Given the description of an element on the screen output the (x, y) to click on. 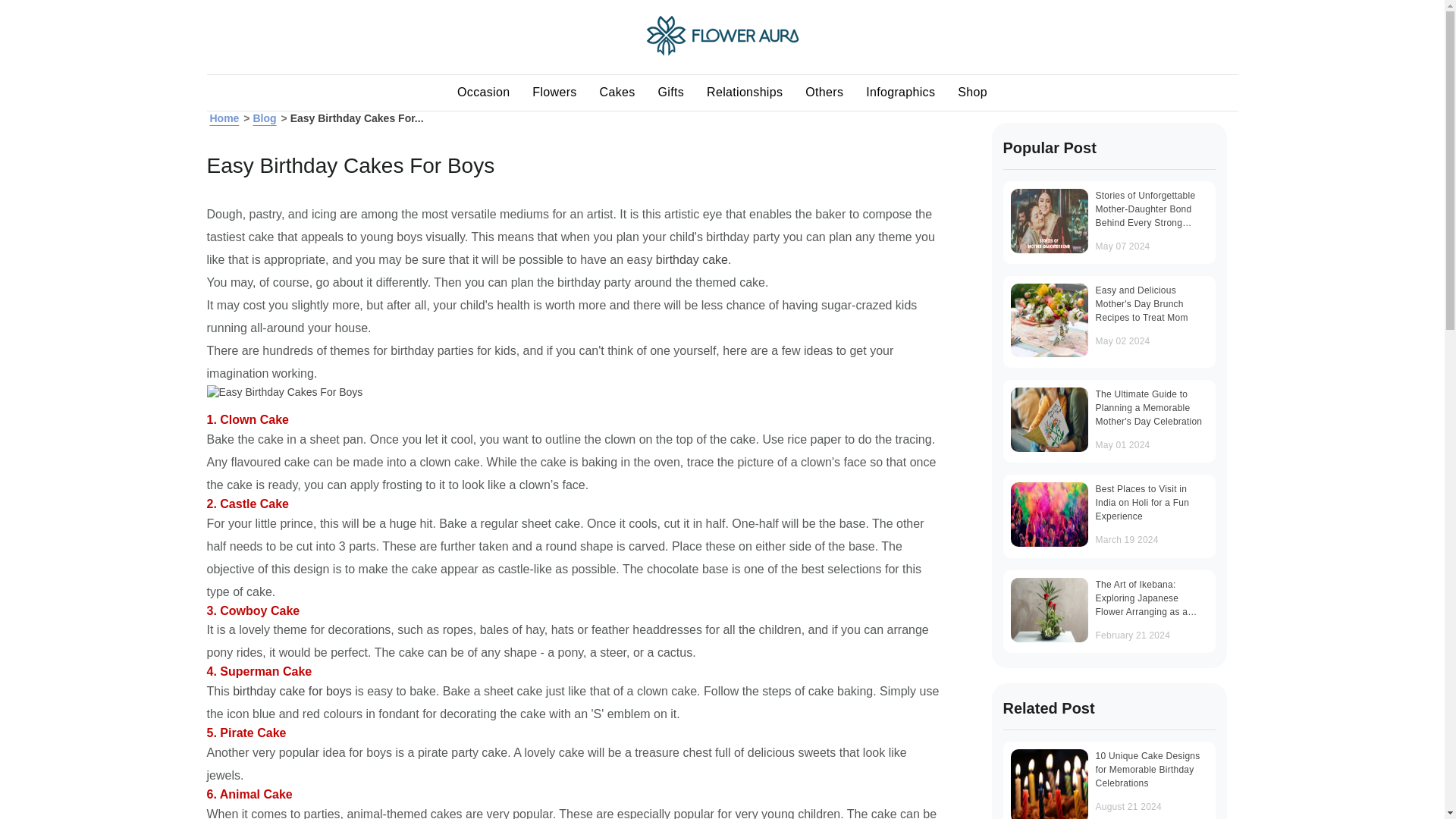
Home (224, 118)
Flowers (554, 92)
Blog (264, 118)
Home (722, 51)
Shop (972, 92)
Best Places to Visit in India on Holi for a Fun Experience (1048, 514)
Blog (264, 118)
Relationships (744, 92)
Home (224, 118)
